Given the description of an element on the screen output the (x, y) to click on. 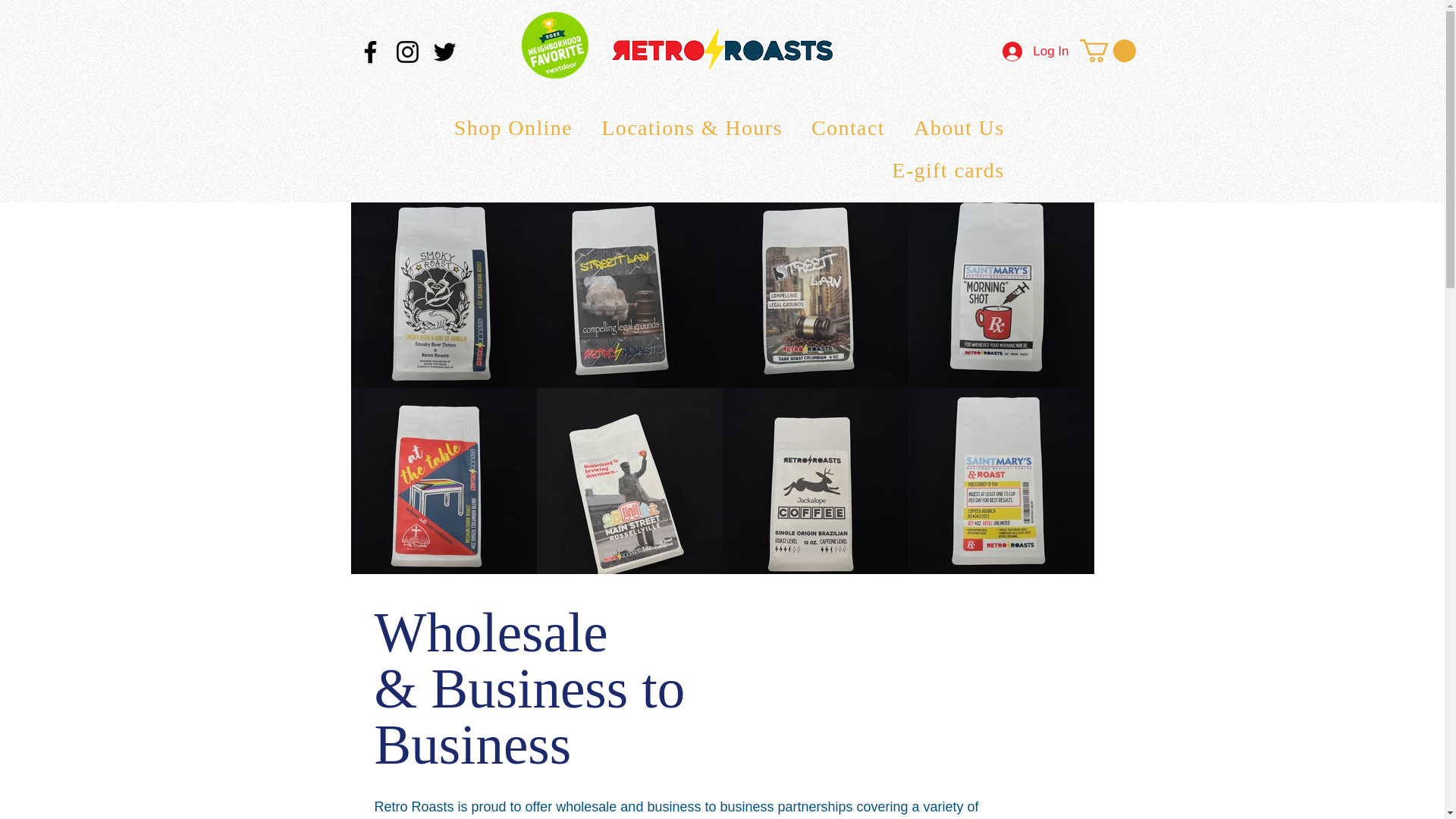
E-gift cards (722, 170)
Log In (1034, 51)
Shop Online (505, 127)
About Us (952, 127)
Contact (841, 127)
